Given the description of an element on the screen output the (x, y) to click on. 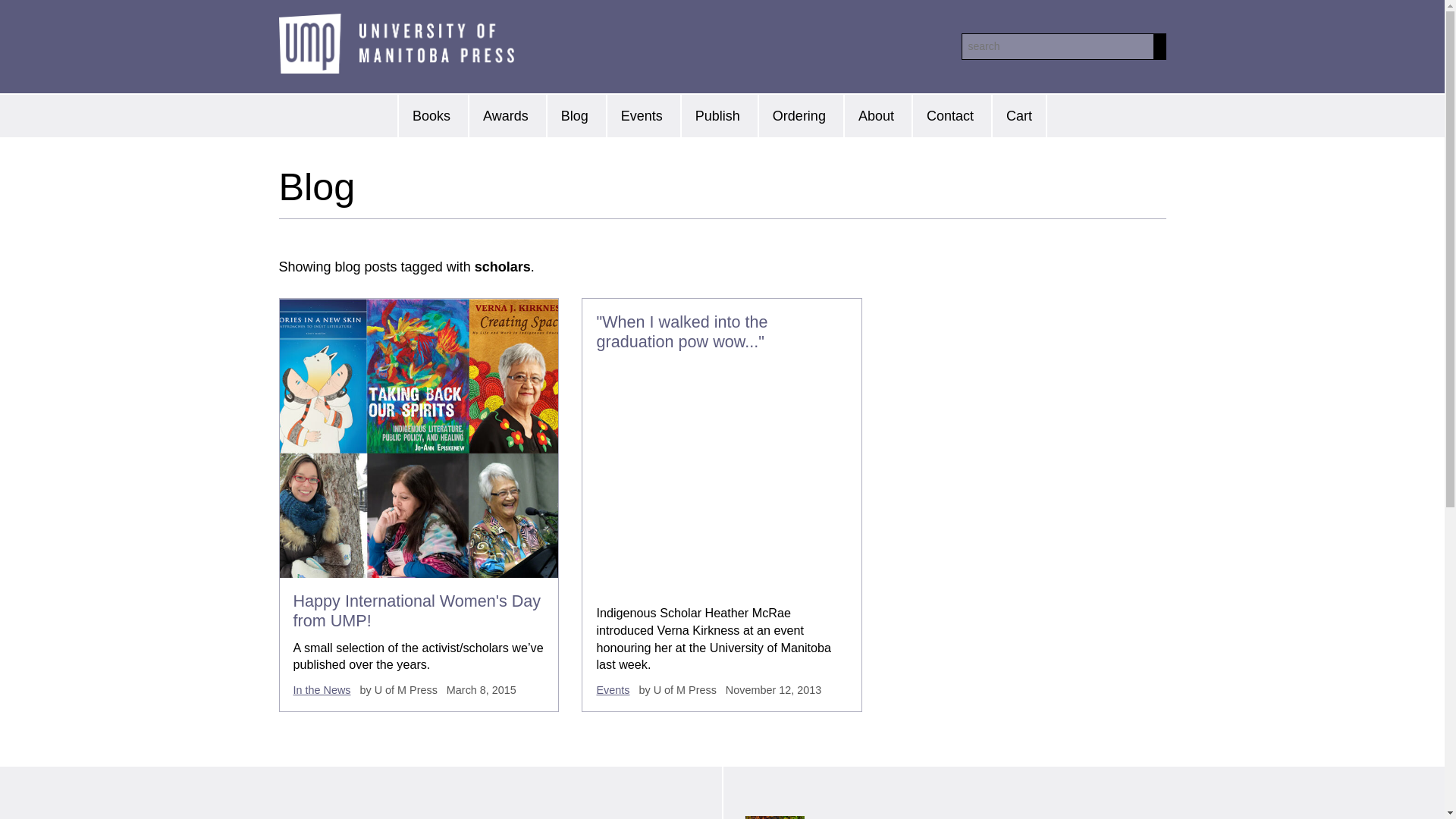
Cart (1018, 116)
Blog (574, 116)
"When I walked into the graduation pow wow..." (681, 331)
Contact (949, 116)
Ordering (798, 116)
Awards (504, 116)
About (875, 116)
Books (430, 116)
Publish (716, 116)
Events (611, 689)
Events (641, 116)
In the News (321, 689)
